Given the description of an element on the screen output the (x, y) to click on. 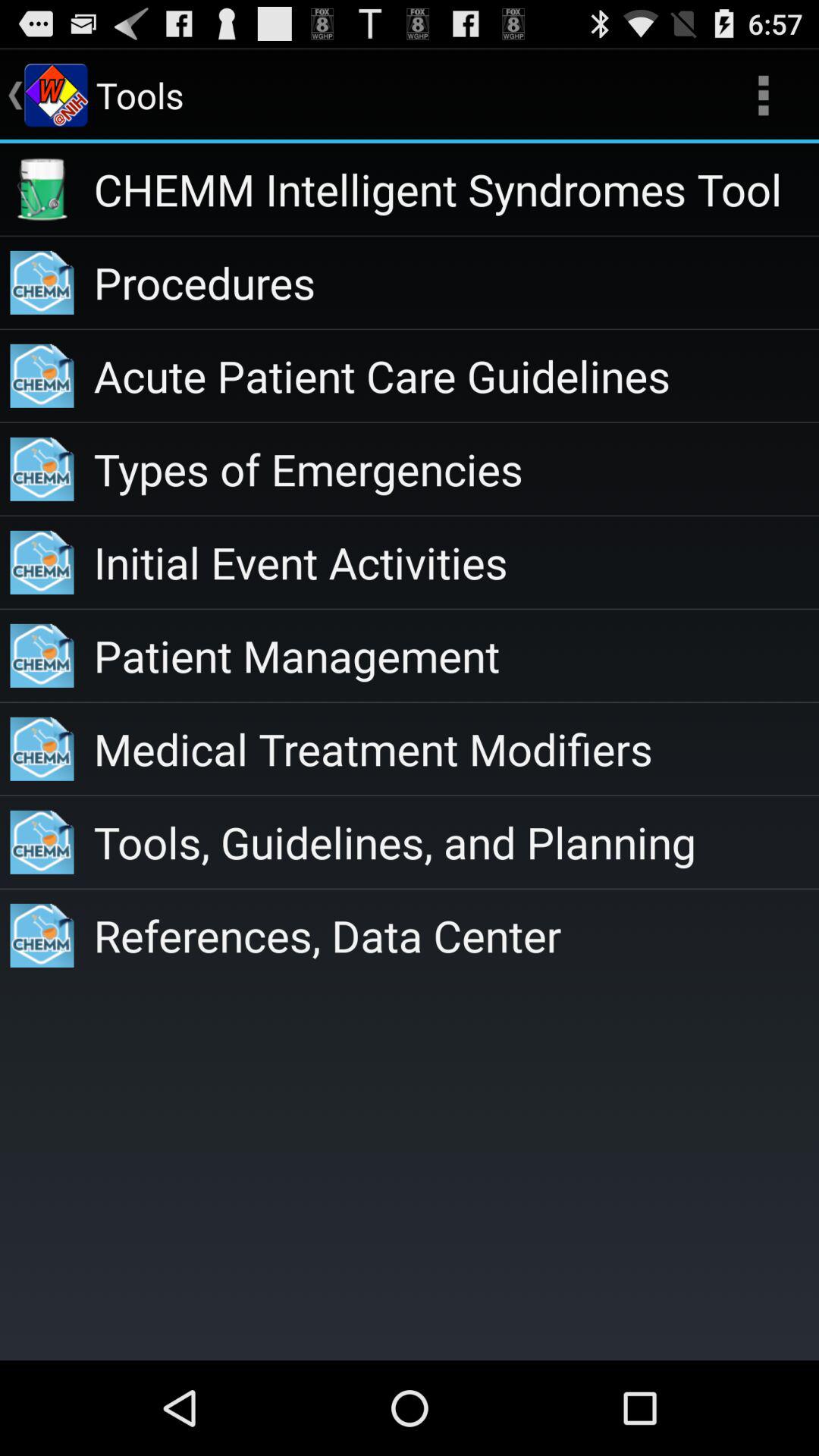
click on last image (42, 936)
